Given the description of an element on the screen output the (x, y) to click on. 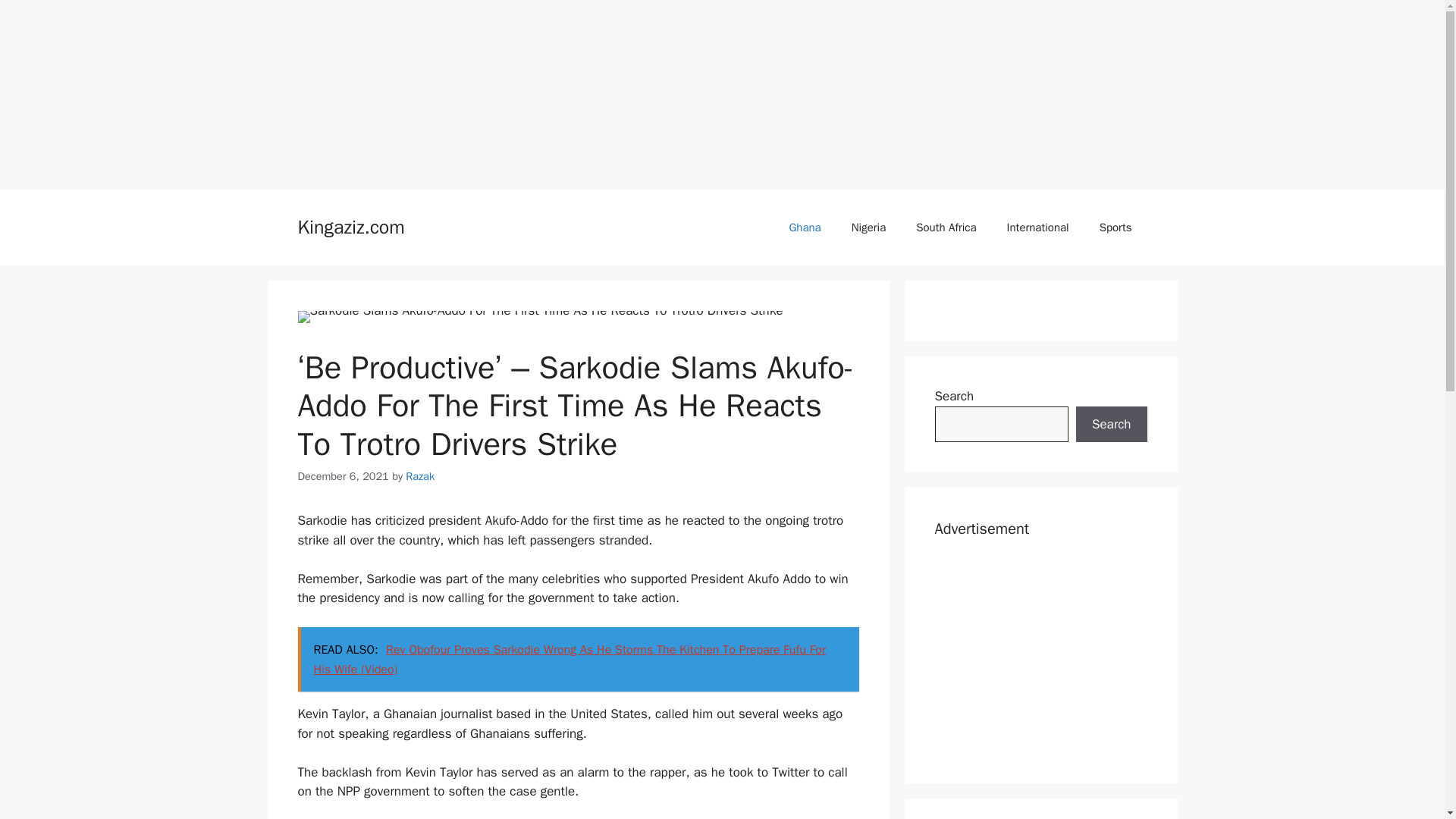
Search (1111, 424)
Ghana (804, 227)
Kingaziz.com (350, 227)
View all posts by Razak (419, 476)
Nigeria (868, 227)
Razak (419, 476)
Sports (1115, 227)
International (1037, 227)
South Africa (946, 227)
